Given the description of an element on the screen output the (x, y) to click on. 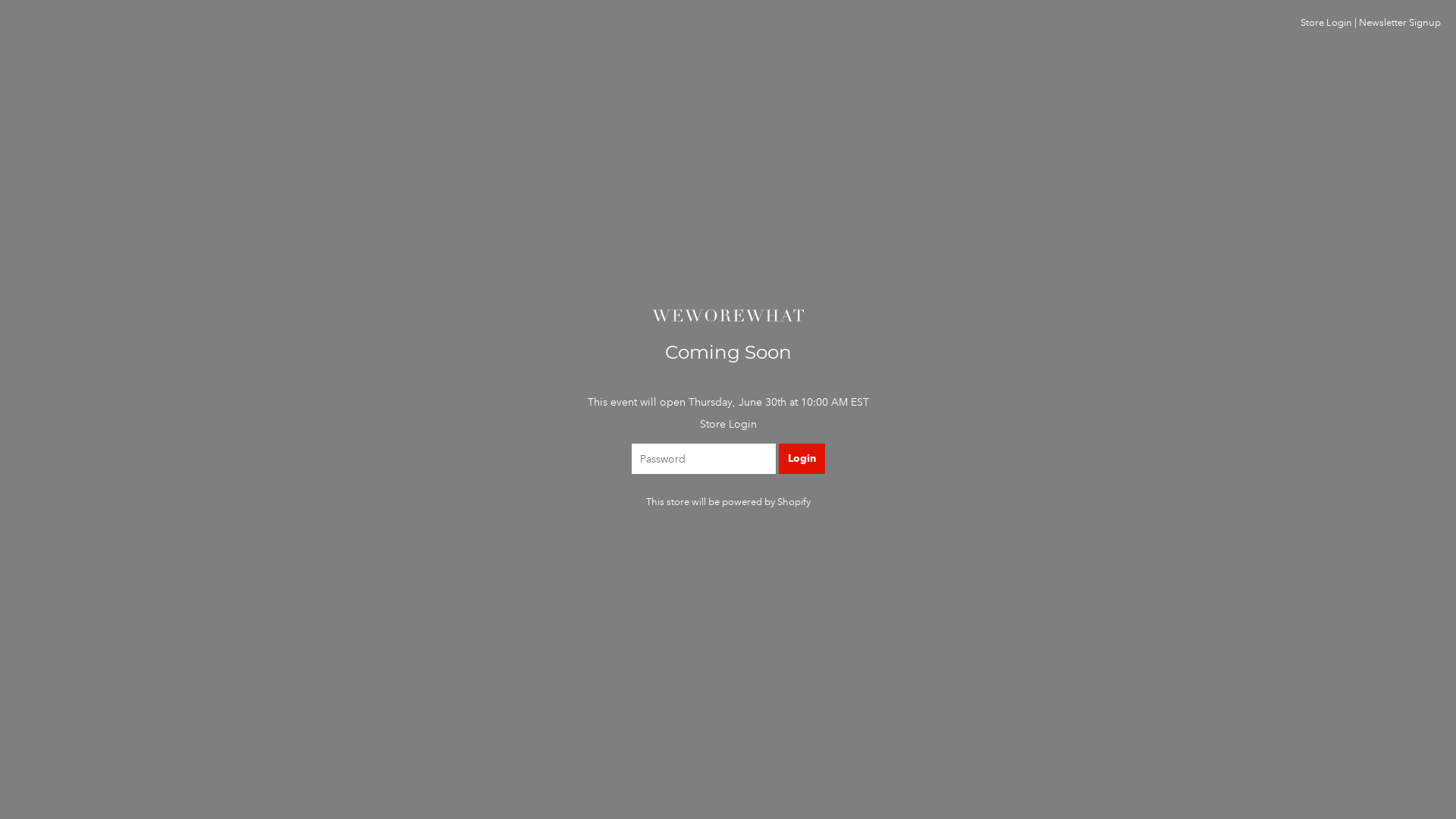
Store Login Element type: text (1326, 22)
Shopify Element type: text (792, 501)
Newsletter Signup Element type: text (1399, 22)
Login Element type: text (801, 458)
